Given the description of an element on the screen output the (x, y) to click on. 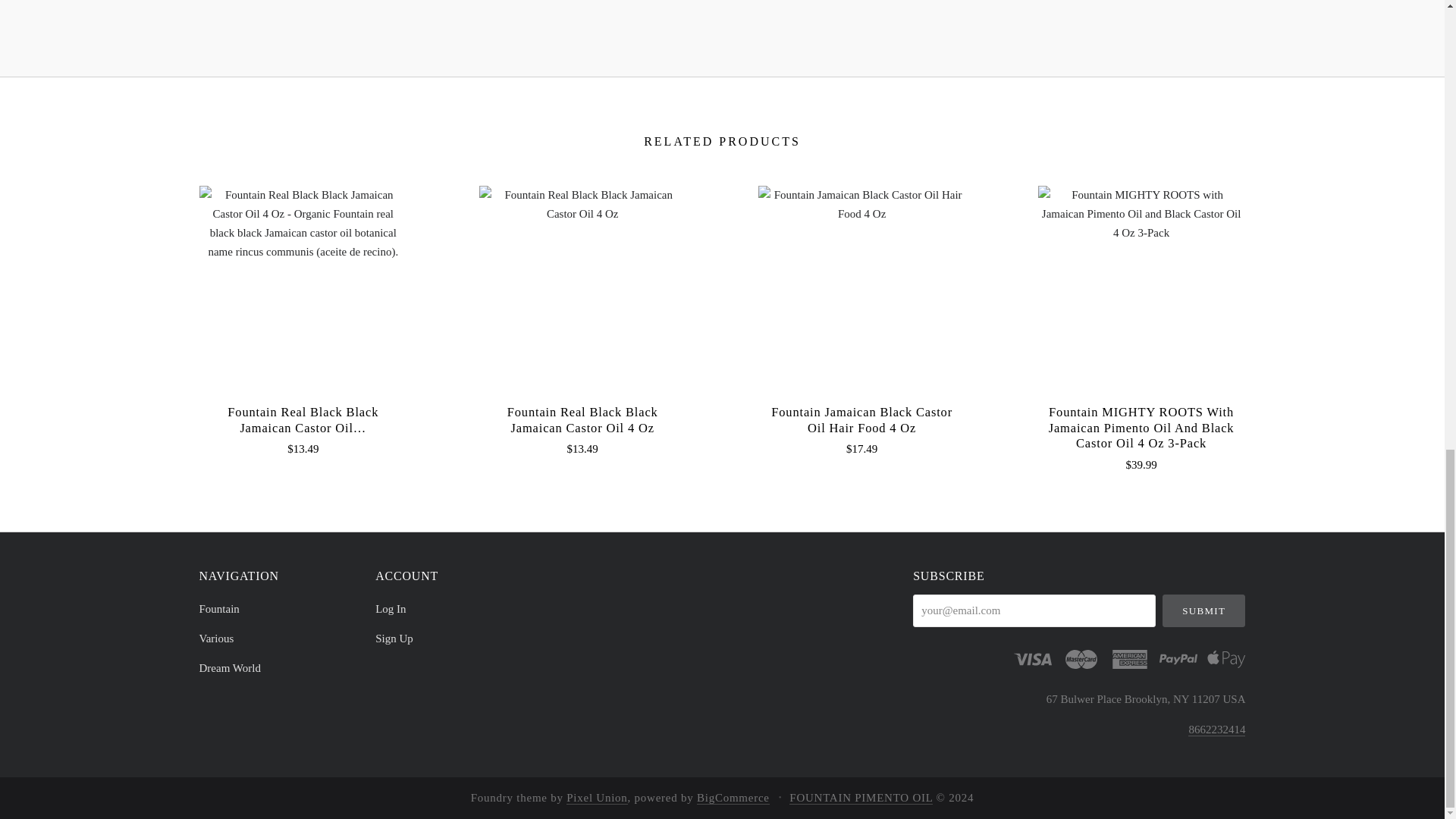
Fountain Real Black Black Jamaican Castor Oil 4 Oz (582, 204)
Fountain Jamaican Black Castor Oil Hair Food 4 Oz (861, 204)
Submit (1203, 610)
Fountain Jamaican Black Castor Oil Hair Food 4 Oz (861, 289)
Fountain Real Black Black Jamaican Castor Oil 4 Oz (582, 289)
Fountain Jamaican Black Castor Oil Hair Food 4 Oz (861, 419)
Fountain Real Black Black Jamaican Castor Oil 4 Oz (582, 419)
